Given the description of an element on the screen output the (x, y) to click on. 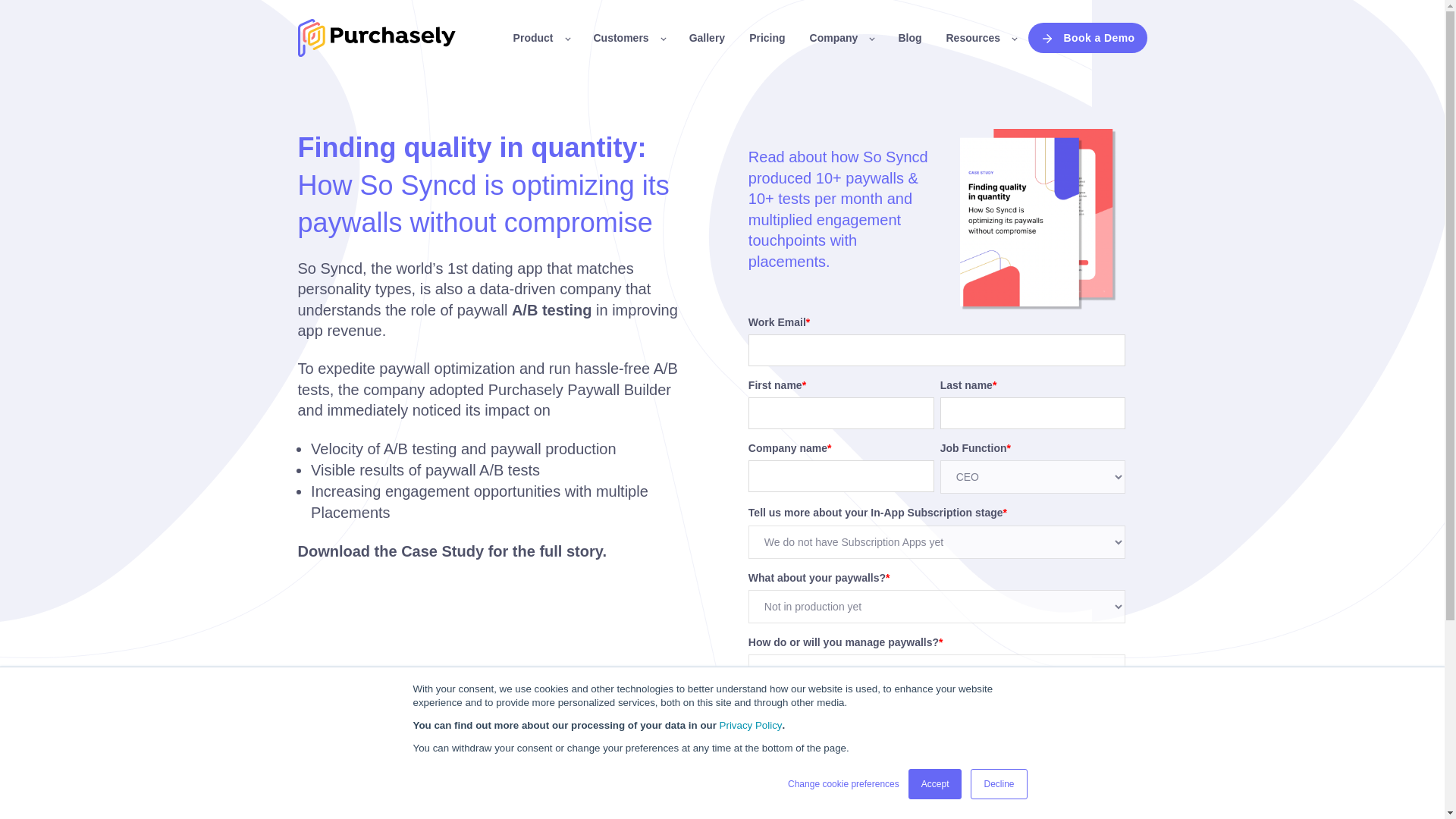
Resources (981, 37)
Accept (935, 784)
Decline (998, 784)
Download (788, 812)
Change cookie preferences (843, 784)
With a Subscription billing system based on credit card (753, 777)
Pricing (766, 37)
Download (788, 812)
Product (541, 37)
Company (842, 37)
Customers (627, 37)
With an in-house In-App Purchase platform (753, 731)
Book a Demo (1087, 37)
Privacy Policy (751, 725)
